Given the description of an element on the screen output the (x, y) to click on. 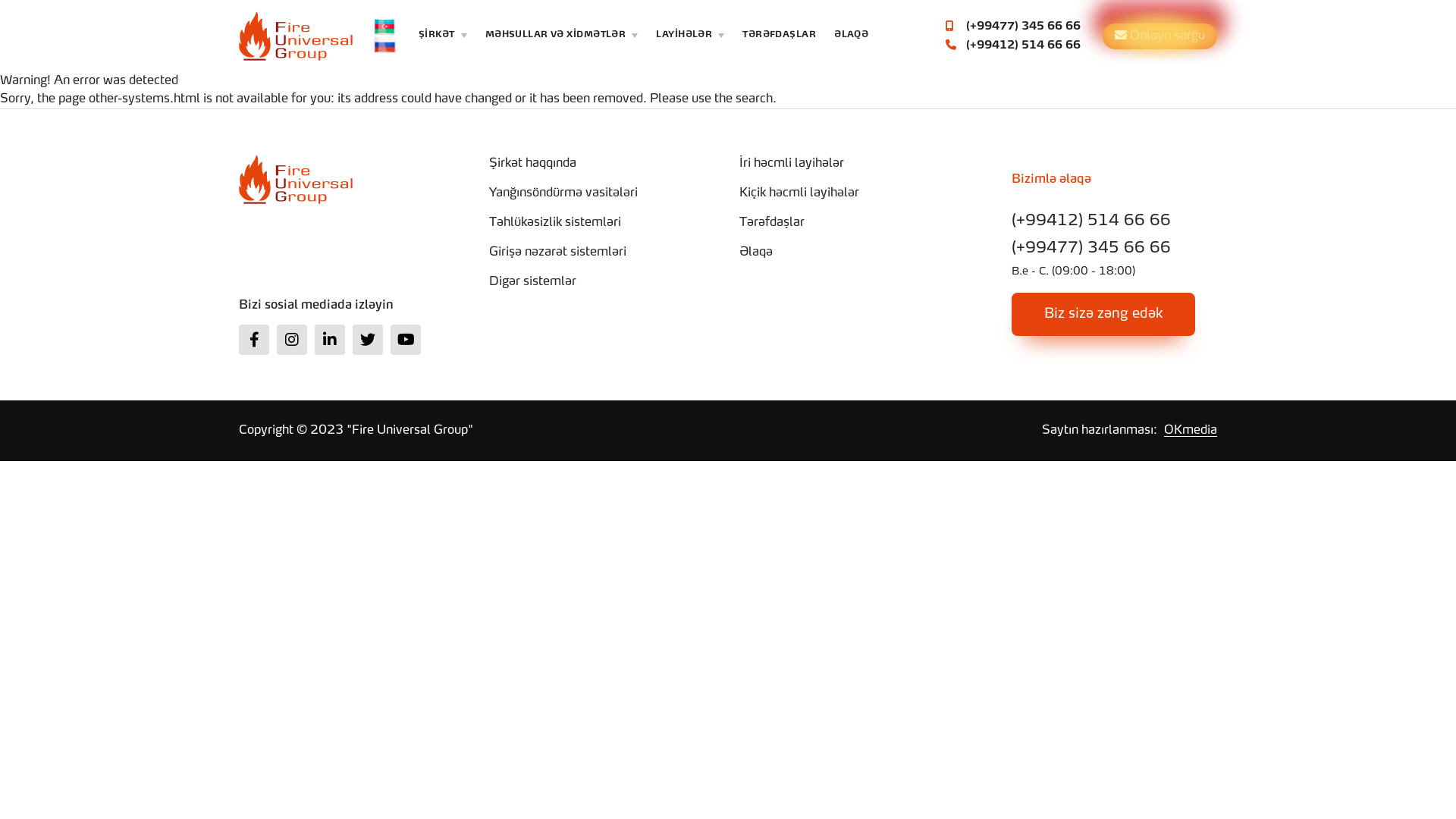
(+99477) 345 66 66 Element type: text (1103, 248)
(+99412) 514 66 66 Element type: text (1012, 45)
(+99412) 514 66 66 Element type: text (1103, 221)
(+99477) 345 66 66 Element type: text (1012, 25)
OKmedia Element type: text (1190, 430)
